Given the description of an element on the screen output the (x, y) to click on. 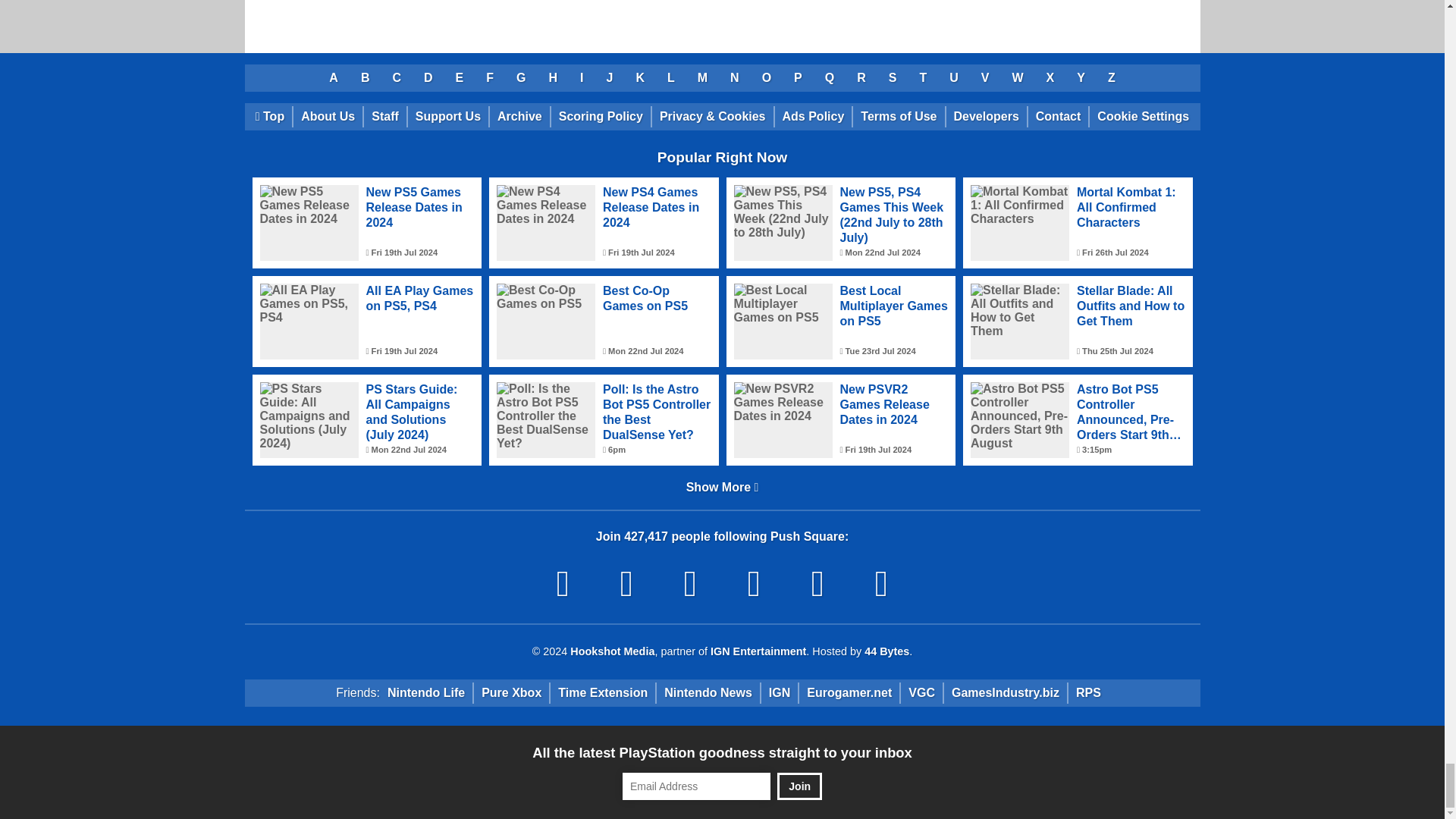
Join (799, 786)
